Given the description of an element on the screen output the (x, y) to click on. 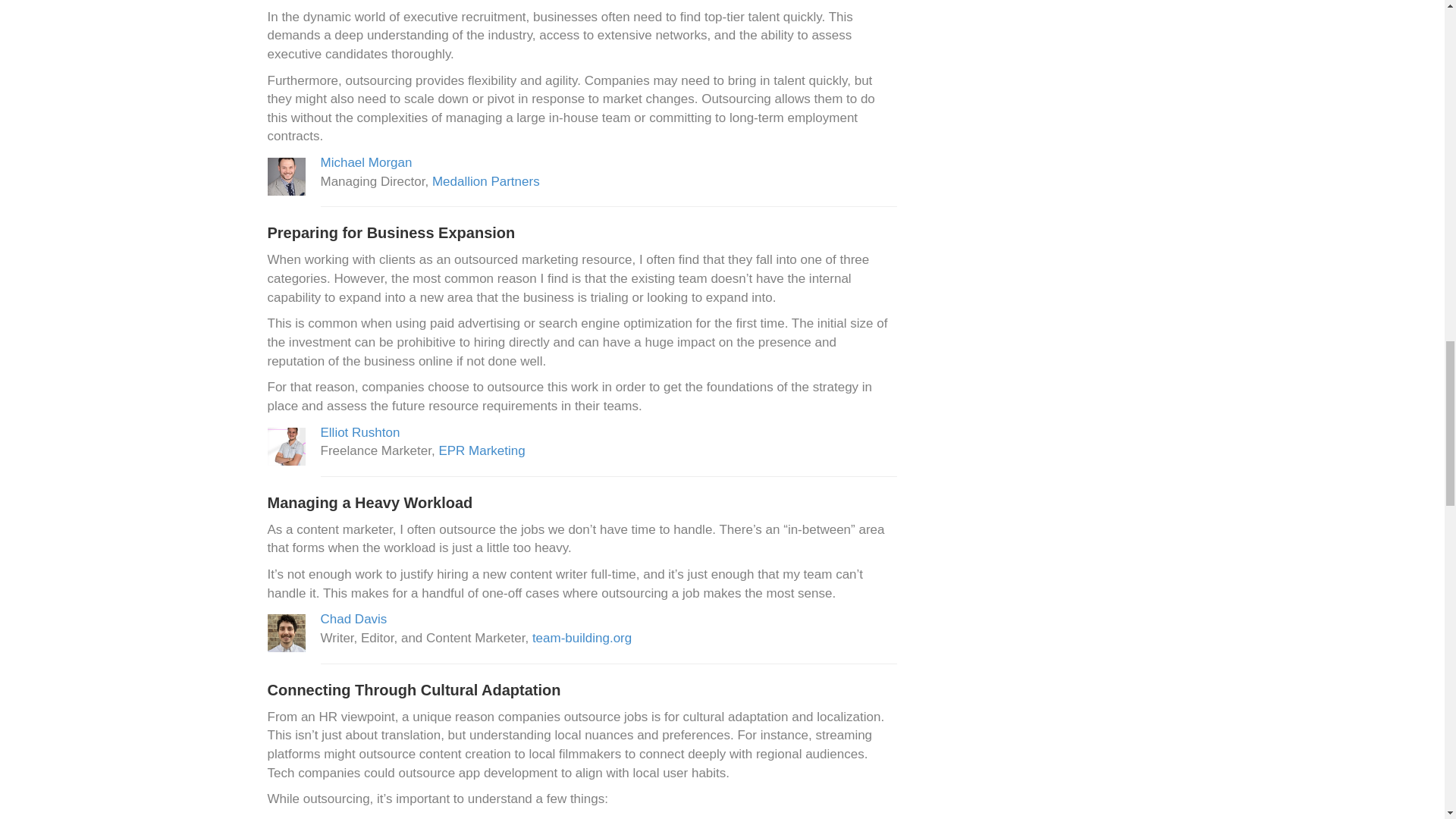
Elliot Rushton (359, 431)
Michael Morgan (366, 162)
Medallion Partners (486, 181)
EPR Marketing (481, 450)
Chad Davis (353, 618)
team-building.org (581, 637)
